Given the description of an element on the screen output the (x, y) to click on. 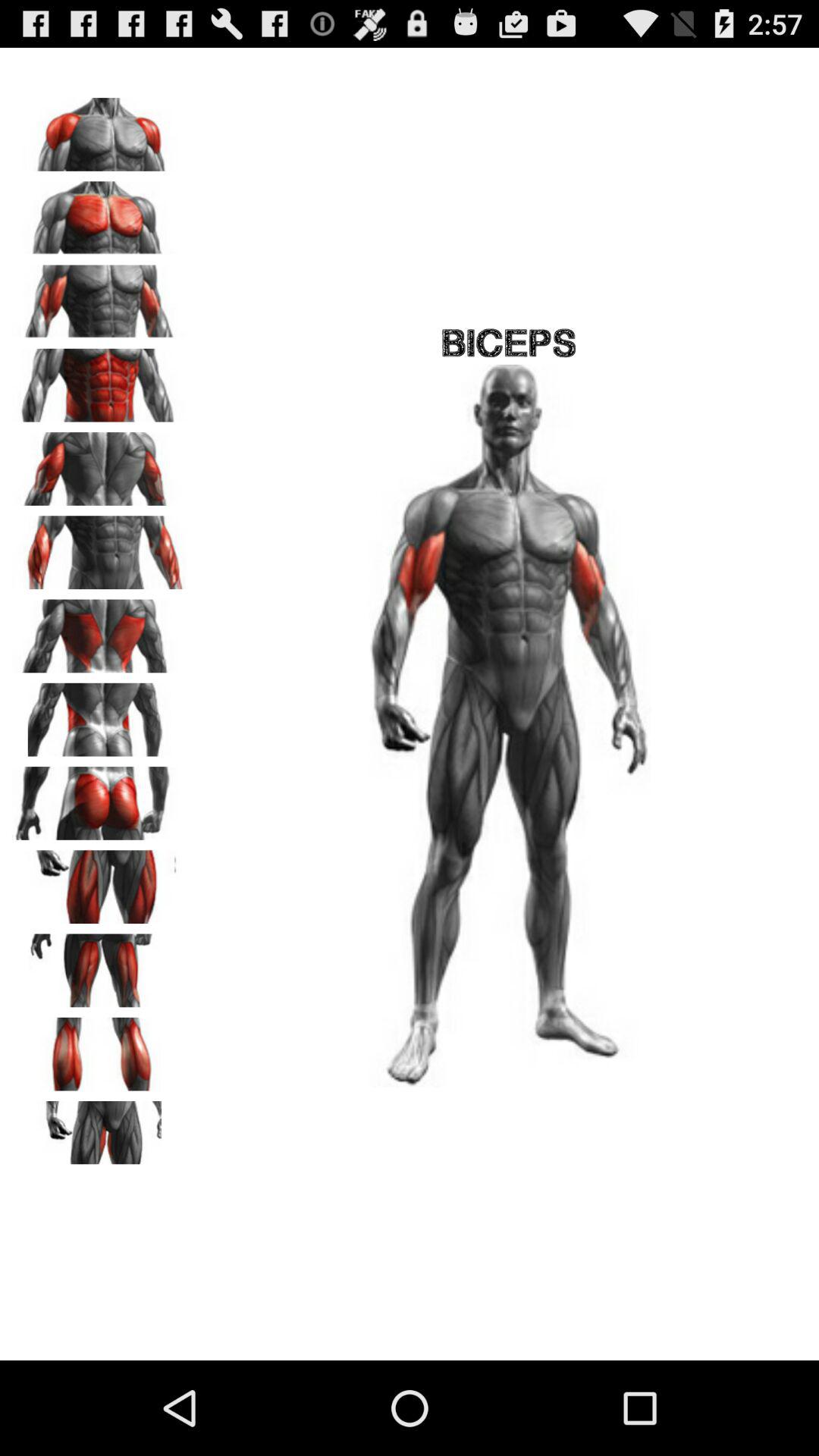
open up info on specific muscle group (99, 547)
